Given the description of an element on the screen output the (x, y) to click on. 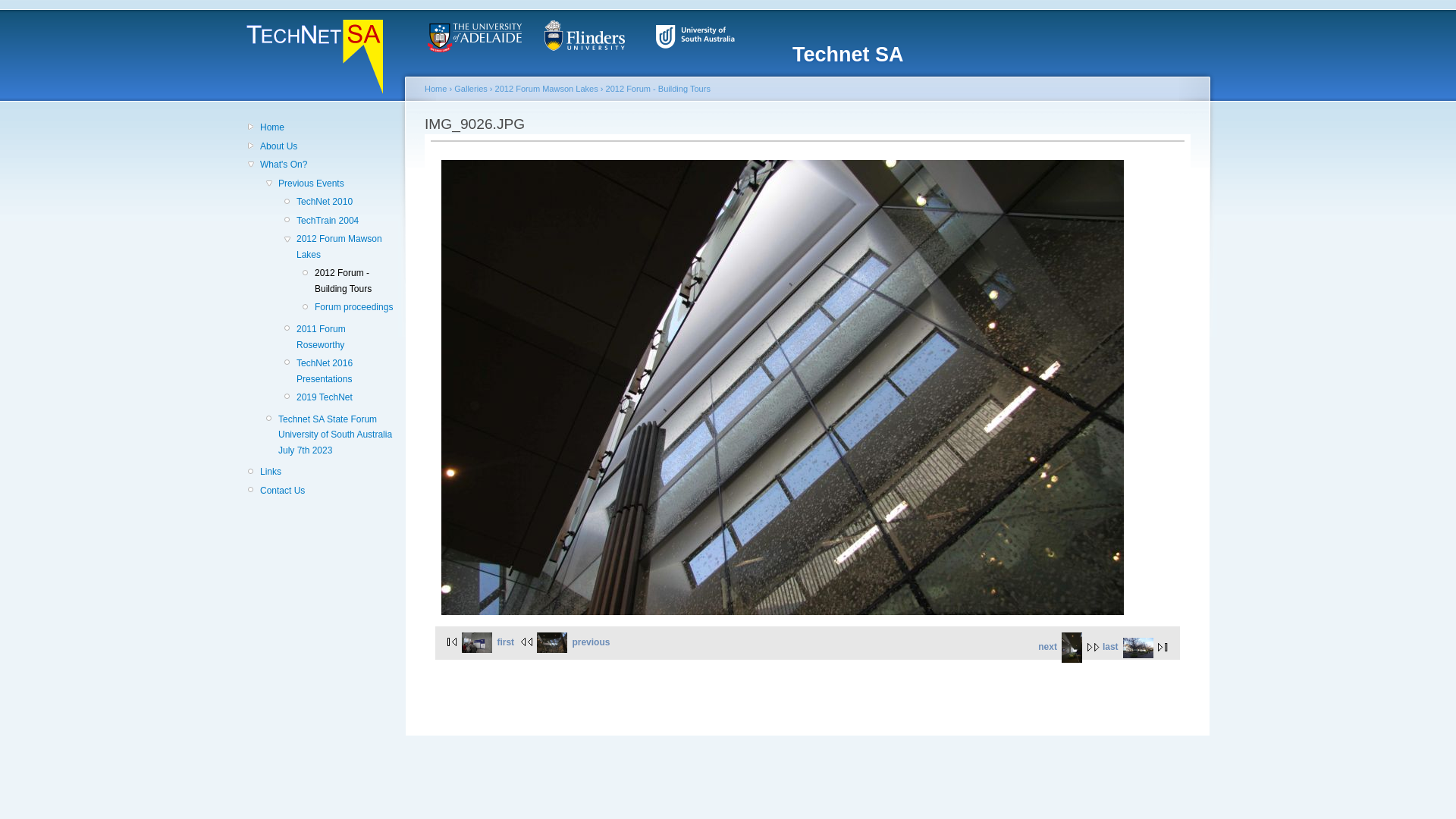
TechNet 2016 Presentations Element type: text (345, 370)
Links Element type: text (327, 471)
next Element type: text (1070, 646)
first Element type: text (477, 642)
About Us Element type: text (327, 145)
Home Element type: text (327, 126)
2019 TechNet Element type: text (345, 396)
Contact Us Element type: text (327, 490)
2012 Forum - Building Tours Element type: text (657, 88)
previous Element type: text (562, 642)
2012 Forum Mawson Lakes Element type: text (546, 88)
last Element type: text (1137, 646)
What's On? Element type: text (327, 164)
Galleries Element type: text (470, 88)
TechNet 2010 Element type: text (345, 201)
2012 Forum - Building Tours Element type: text (354, 280)
TechTrain 2004 Element type: text (345, 220)
Previous Events Element type: text (336, 183)
2011 Forum Roseworthy Element type: text (345, 336)
Technet SA Element type: text (847, 54)
Forum proceedings Element type: text (354, 306)
Home Element type: text (435, 88)
2012 Forum Mawson Lakes Element type: text (345, 246)
